Given the description of an element on the screen output the (x, y) to click on. 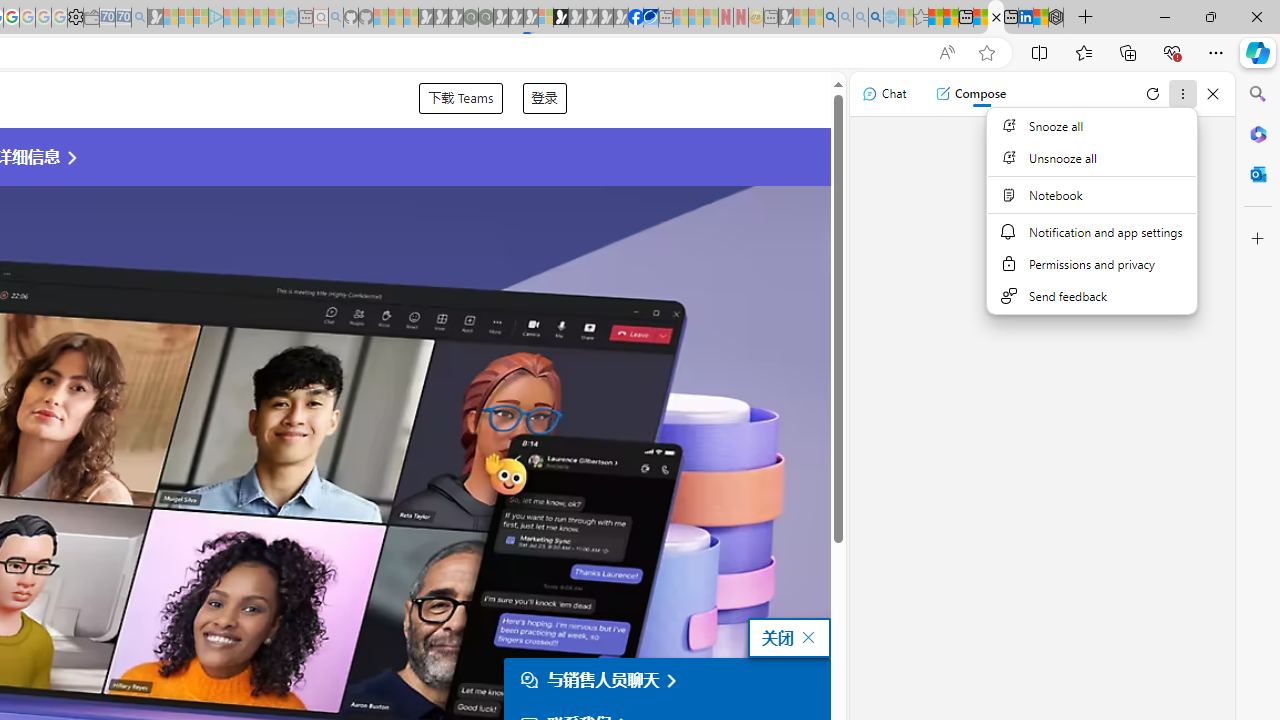
Nordace | Facebook (635, 17)
Notebook (1091, 194)
Context (1091, 210)
